Given the description of an element on the screen output the (x, y) to click on. 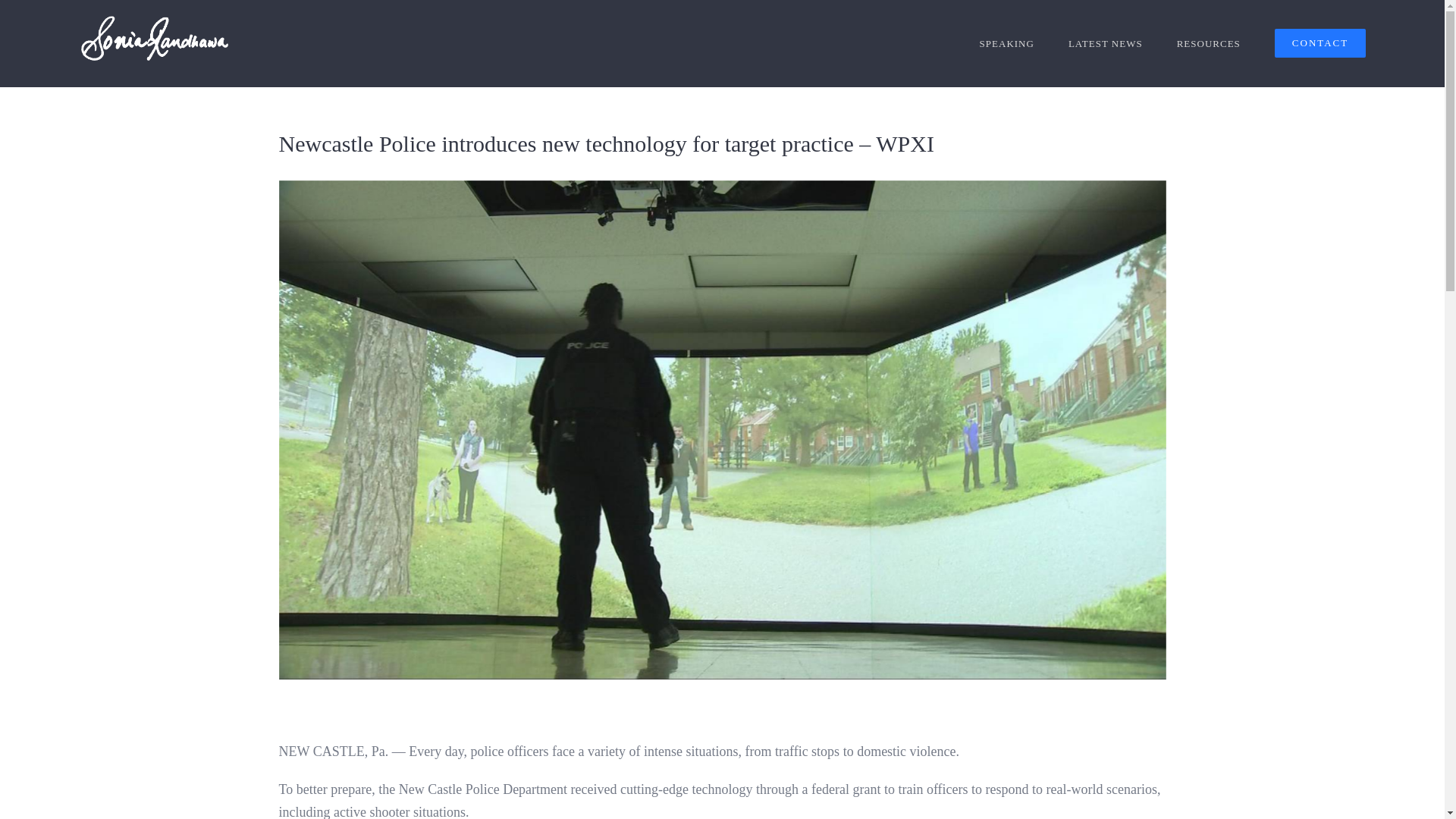
SPEAKING (1006, 42)
RESOURCES (1208, 42)
CONTACT (1320, 42)
LATEST NEWS (1105, 42)
